Given the description of an element on the screen output the (x, y) to click on. 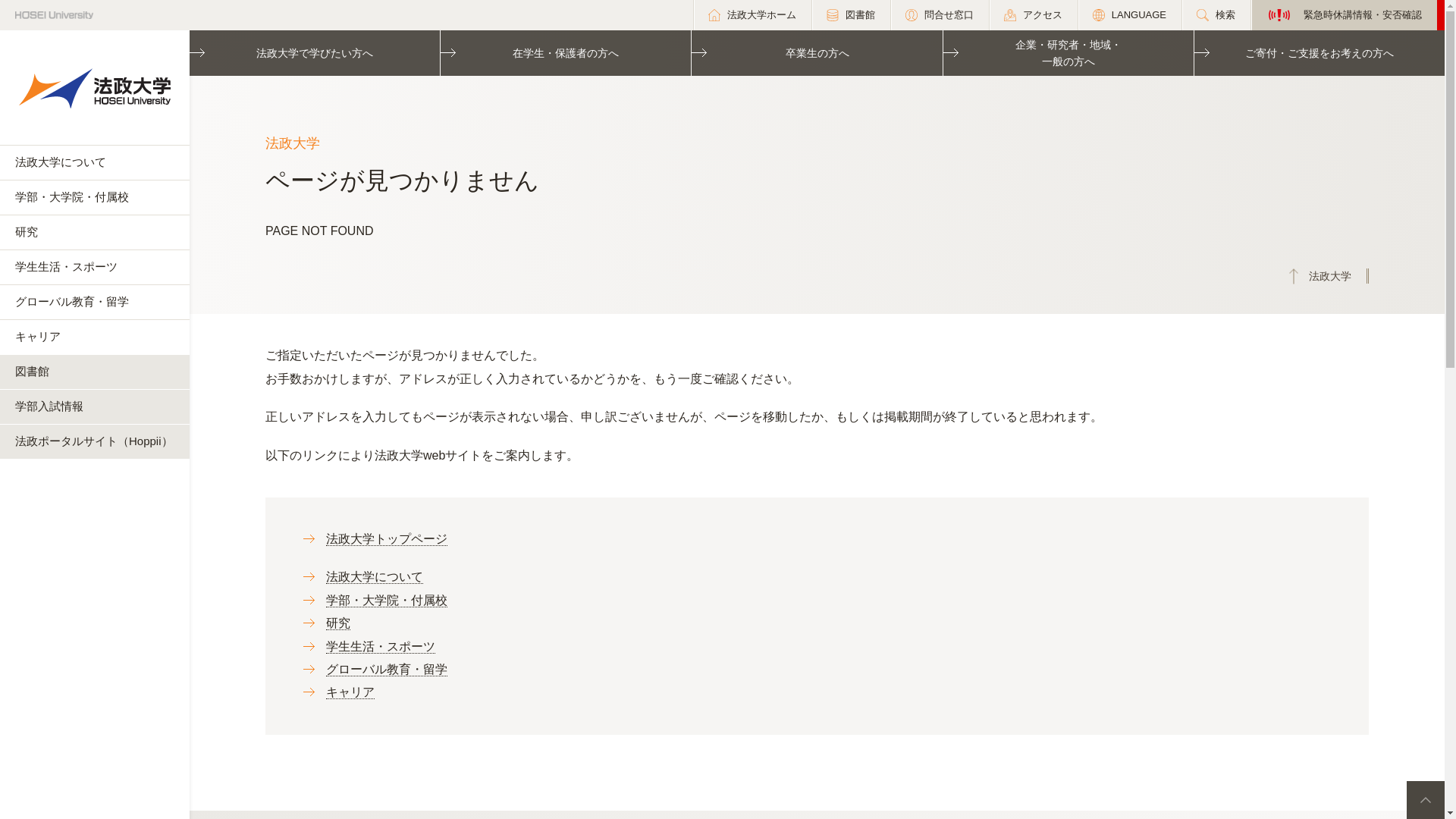
LANGUAGE (1128, 15)
